Given the description of an element on the screen output the (x, y) to click on. 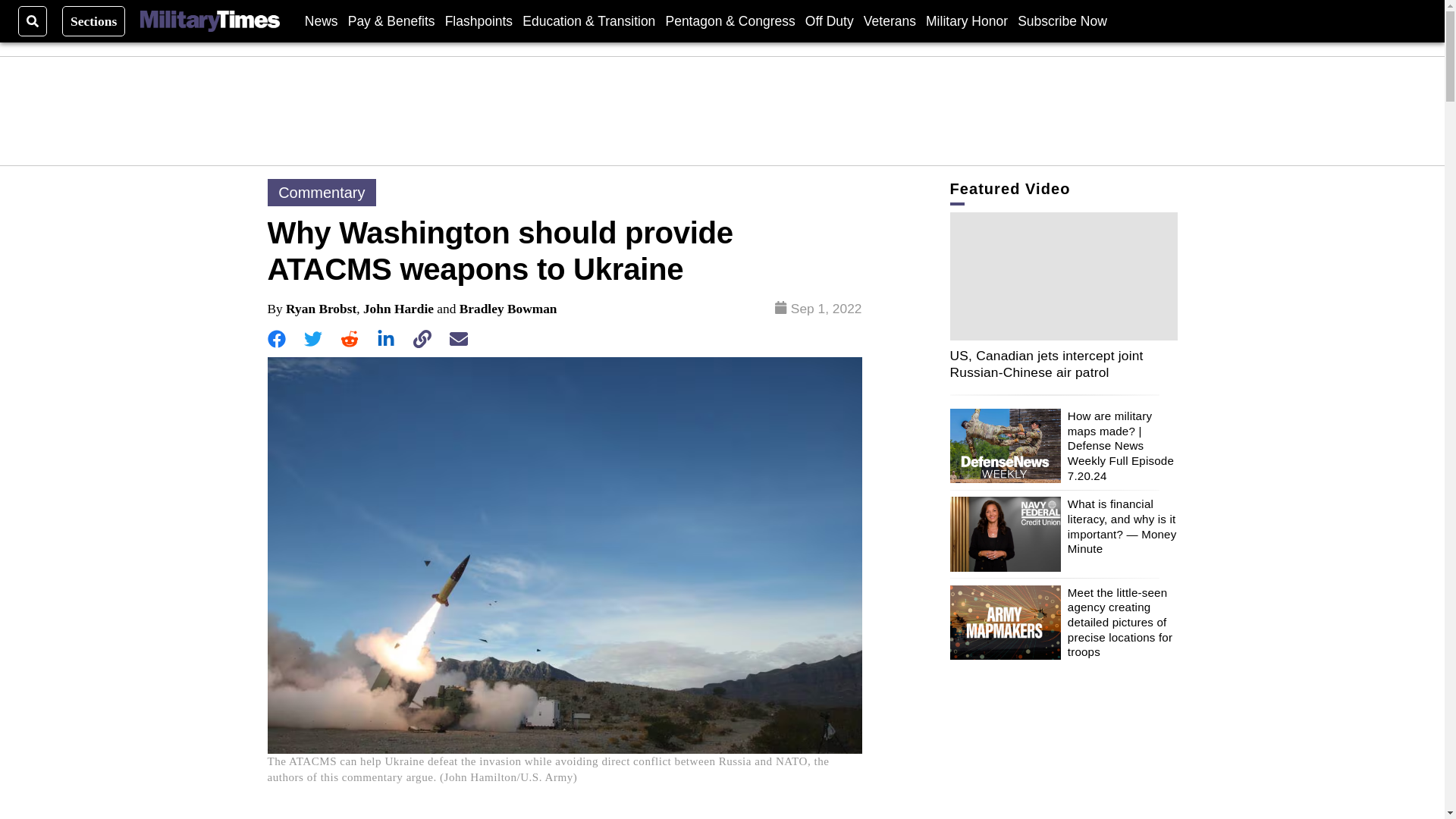
Veterans (889, 20)
Military Times Logo (209, 20)
Off Duty (829, 20)
Flashpoints (479, 20)
Sections (93, 20)
Military Honor (966, 20)
3rd party ad content (722, 110)
News (320, 20)
